Given the description of an element on the screen output the (x, y) to click on. 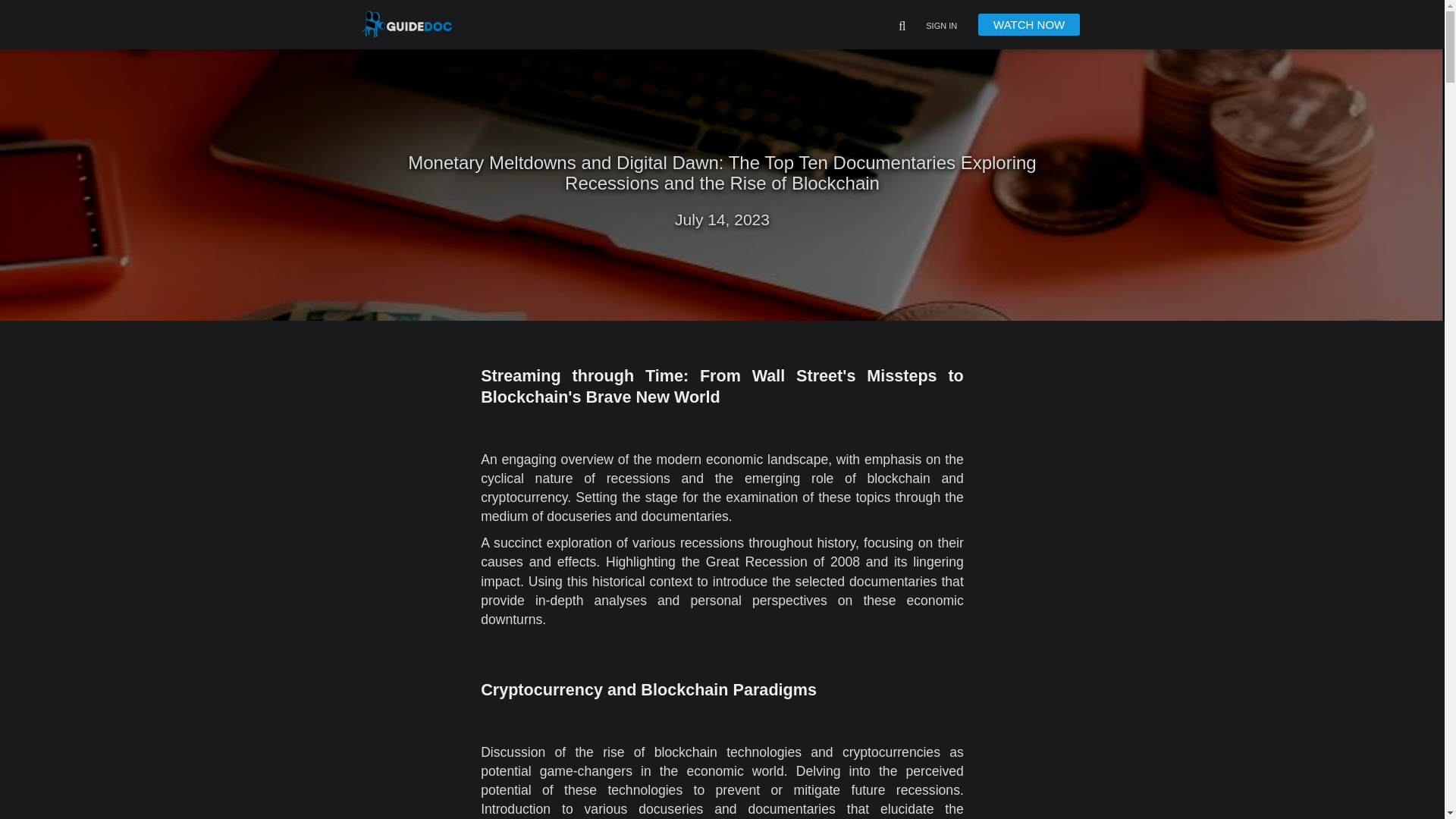
documentaries (791, 808)
WATCH NOW (1029, 24)
landscape (797, 459)
economic (935, 600)
SIGN IN (941, 26)
